Given the description of an element on the screen output the (x, y) to click on. 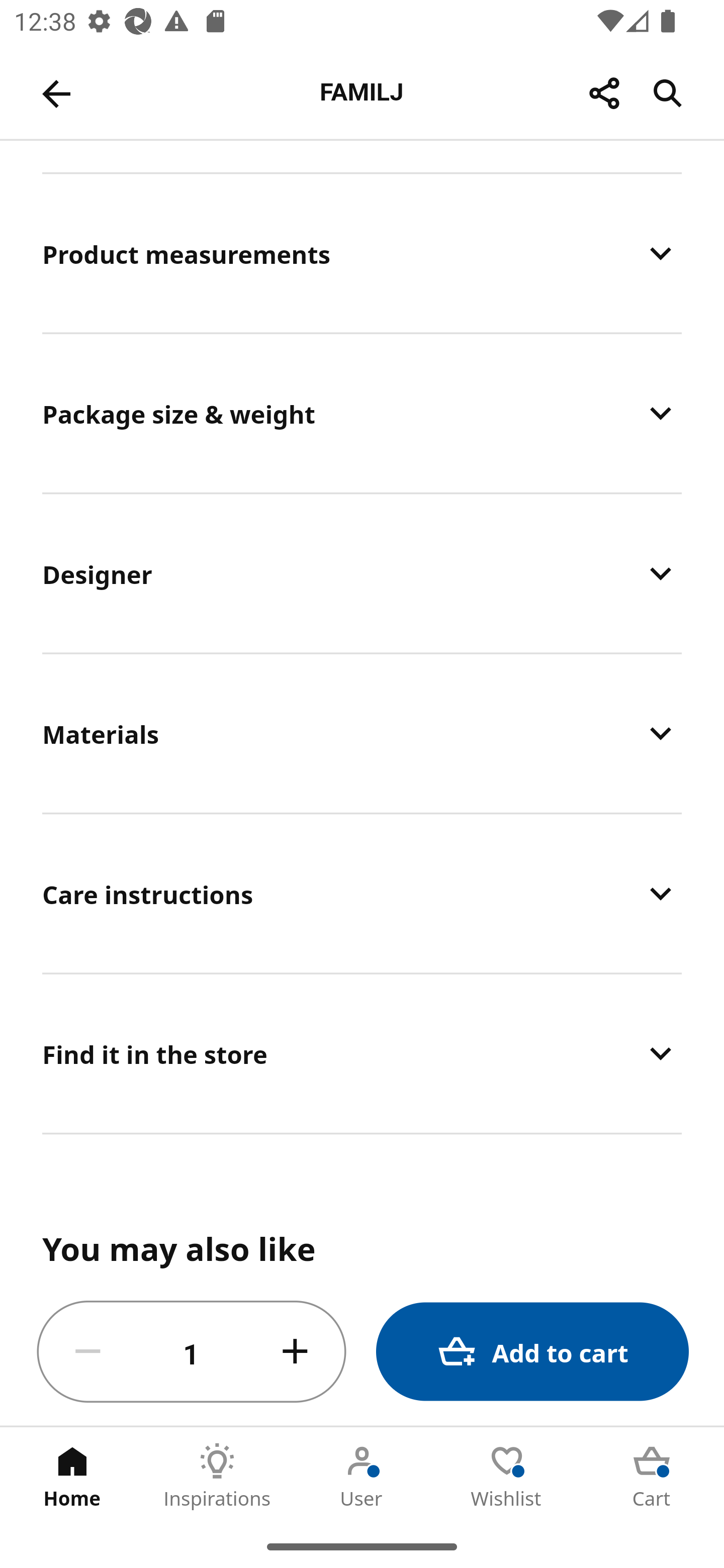
Product measurements (361, 252)
Package size & weight (361, 412)
Designer (361, 572)
Materials (361, 732)
Care instructions (361, 893)
Find it in the store (361, 1052)
Add to cart (531, 1352)
1 (191, 1352)
Home
Tab 1 of 5 (72, 1476)
Inspirations
Tab 2 of 5 (216, 1476)
User
Tab 3 of 5 (361, 1476)
Wishlist
Tab 4 of 5 (506, 1476)
Cart
Tab 5 of 5 (651, 1476)
